Given the description of an element on the screen output the (x, y) to click on. 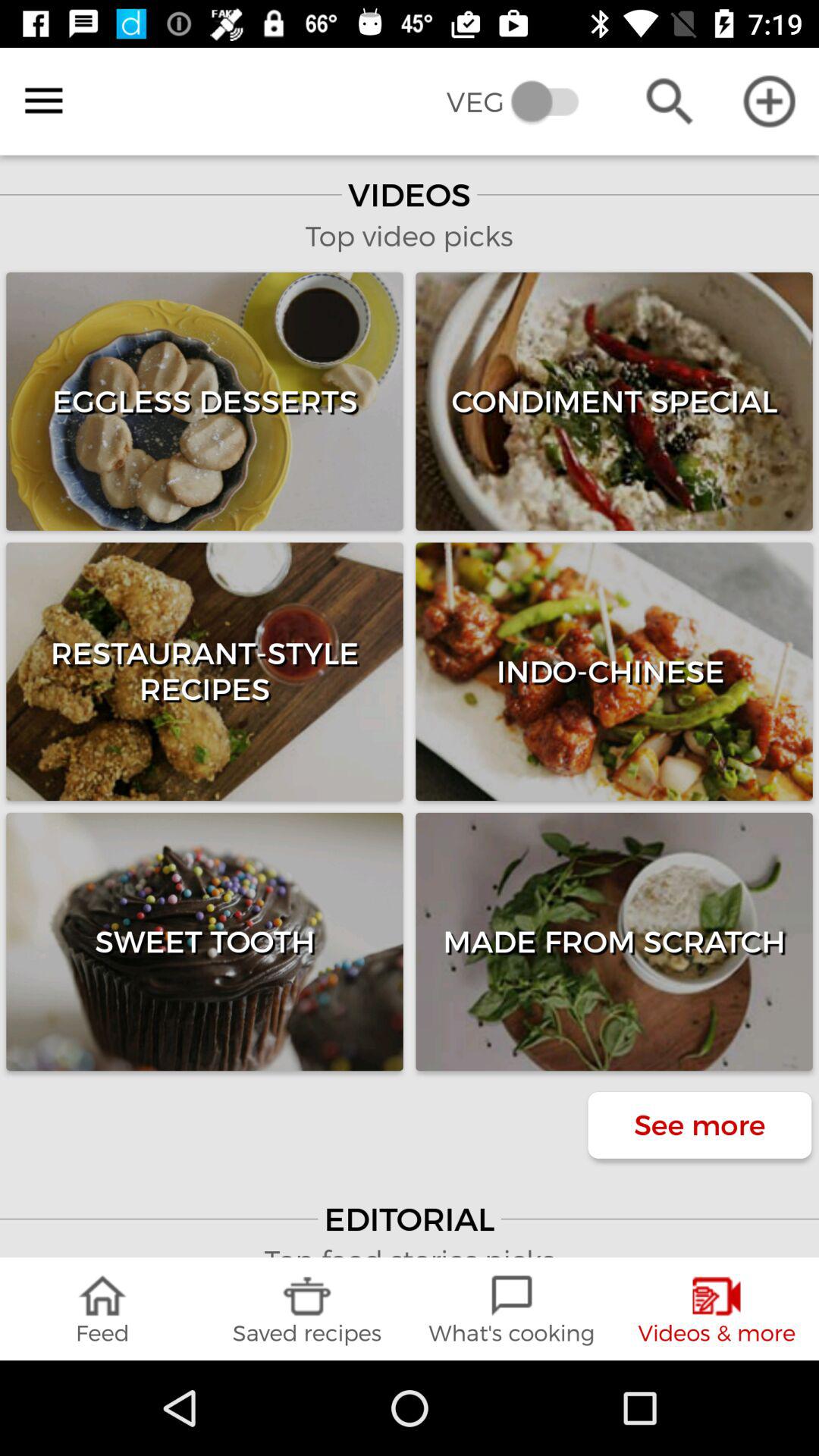
click videos & more icon (716, 1308)
